Given the description of an element on the screen output the (x, y) to click on. 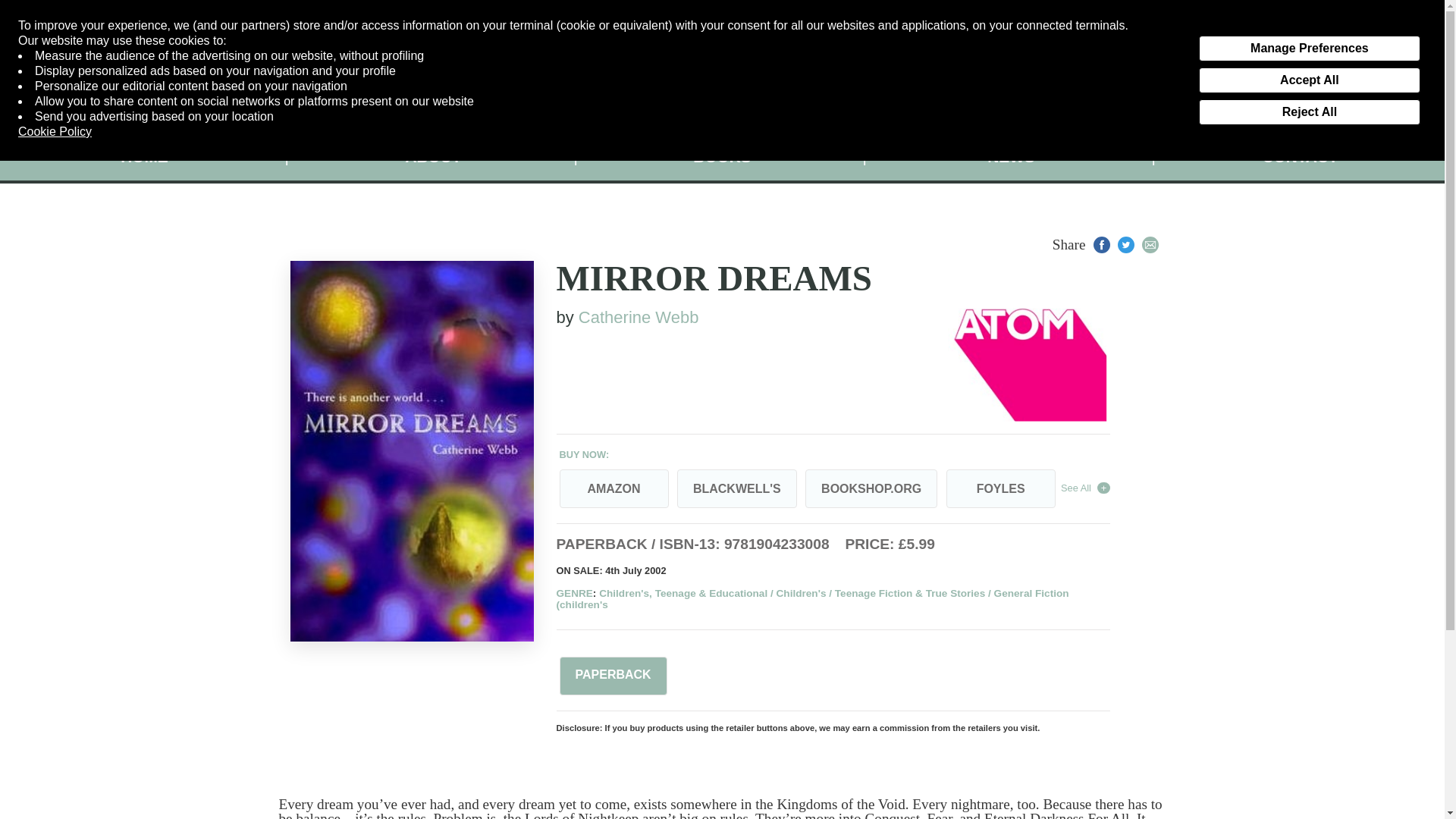
CONTACT (1299, 157)
Manage Preferences (1309, 48)
Catherine Webb (638, 316)
BOOKS (721, 157)
BLACKWELL'S (736, 488)
Accept All (1309, 80)
AMAZON (613, 488)
ABOUT (432, 157)
HOME (144, 157)
Reject All (1309, 112)
